Given the description of an element on the screen output the (x, y) to click on. 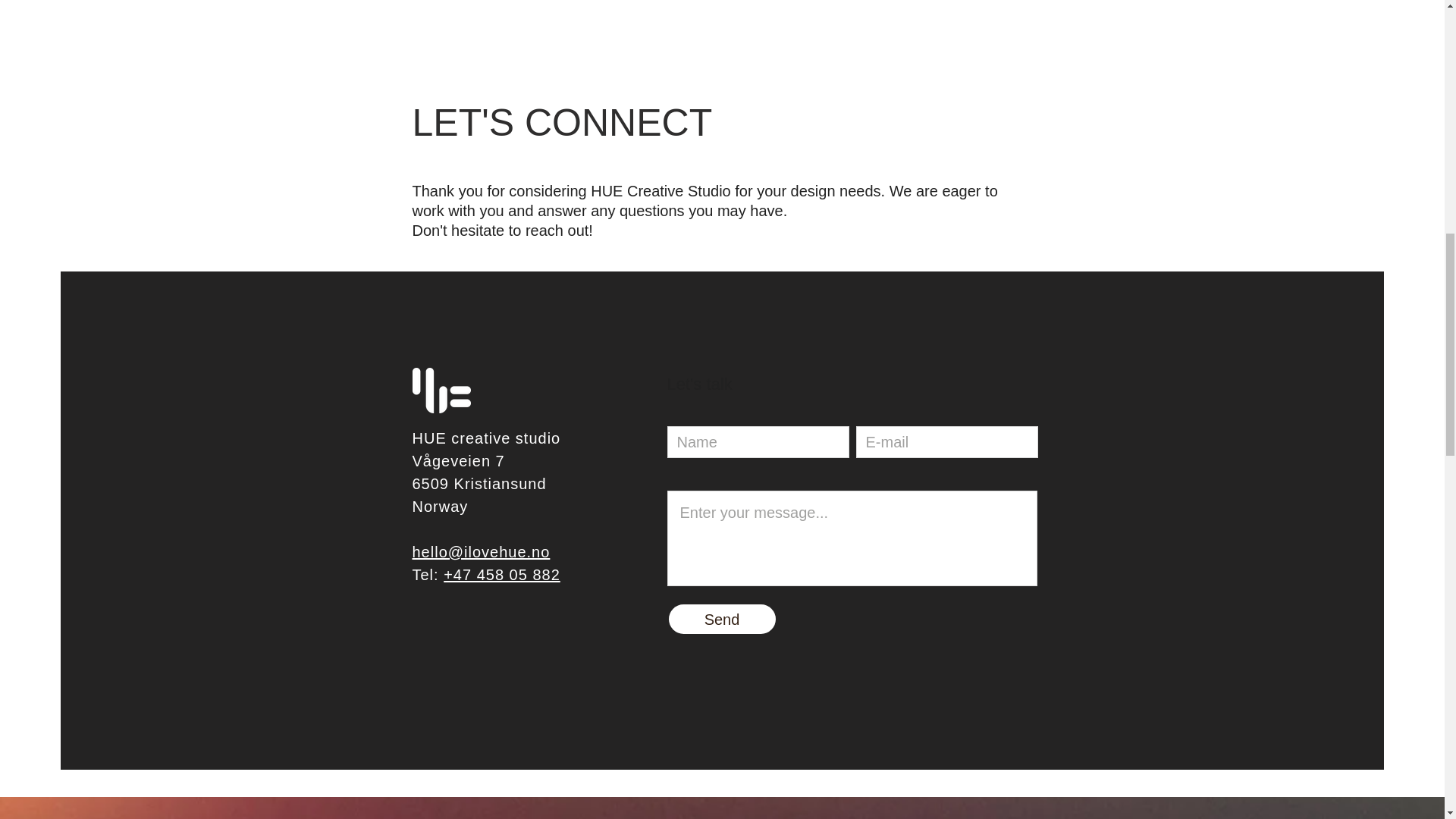
Send (722, 618)
